Given the description of an element on the screen output the (x, y) to click on. 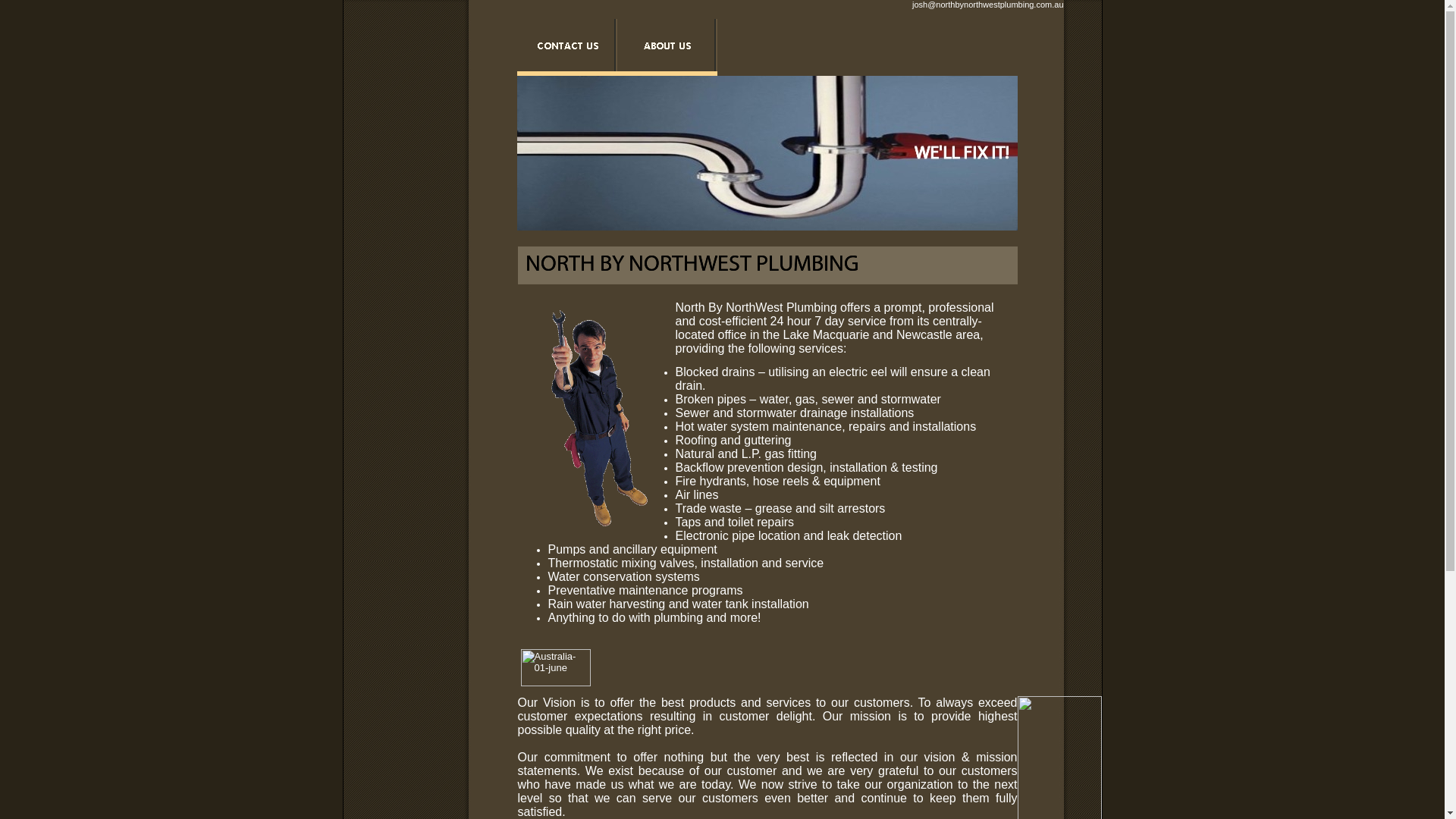
plumber001-(no-bkgd) Element type: hover (595, 418)
Australia-01-june Element type: hover (554, 667)
josh@northbynorthwestplumbing.com.au Element type: text (987, 4)
